Given the description of an element on the screen output the (x, y) to click on. 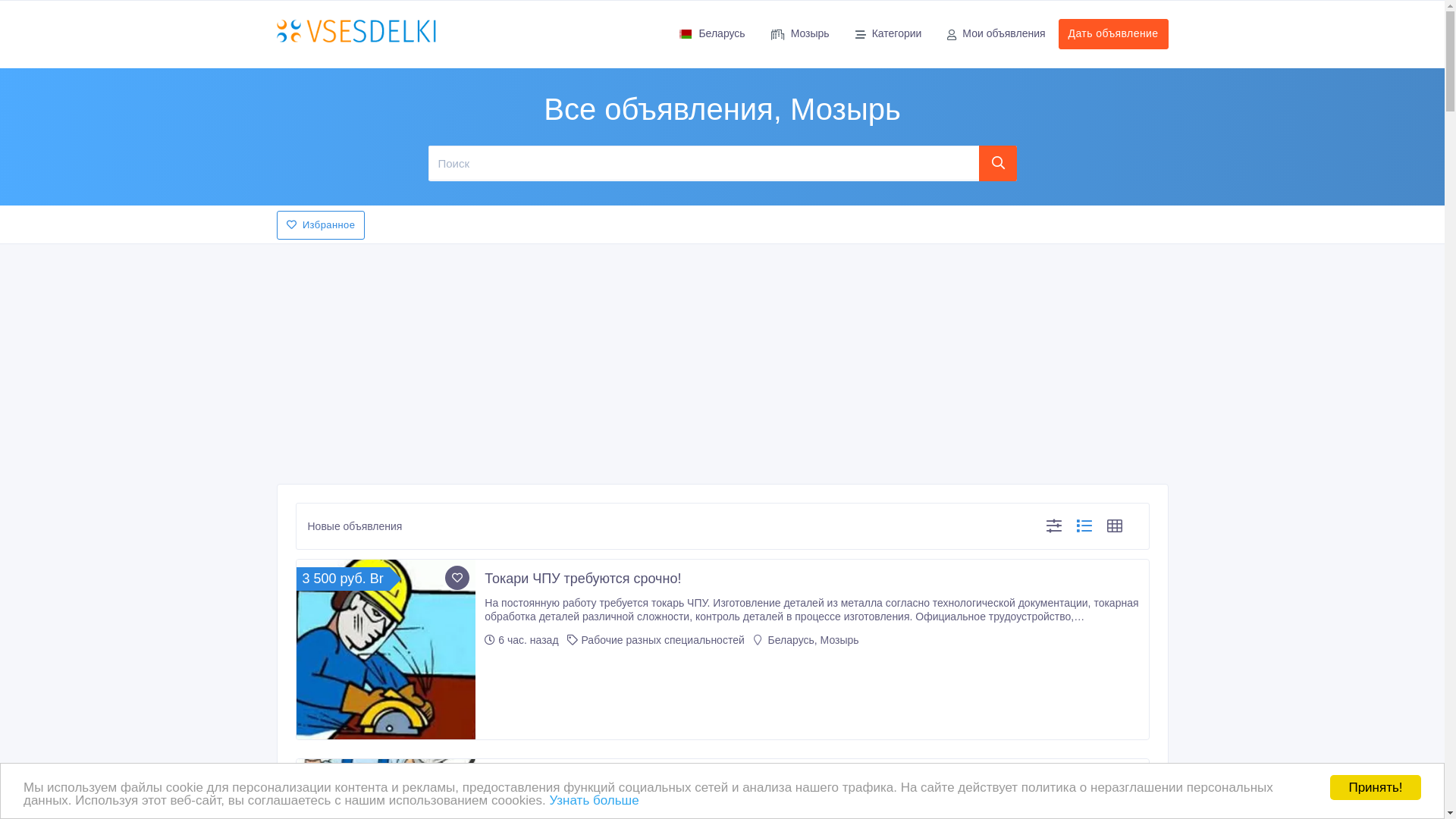
Add to favorite Element type: hover (457, 577)
Advertisement Element type: hover (721, 359)
Add to favorite Element type: hover (457, 777)
